Given the description of an element on the screen output the (x, y) to click on. 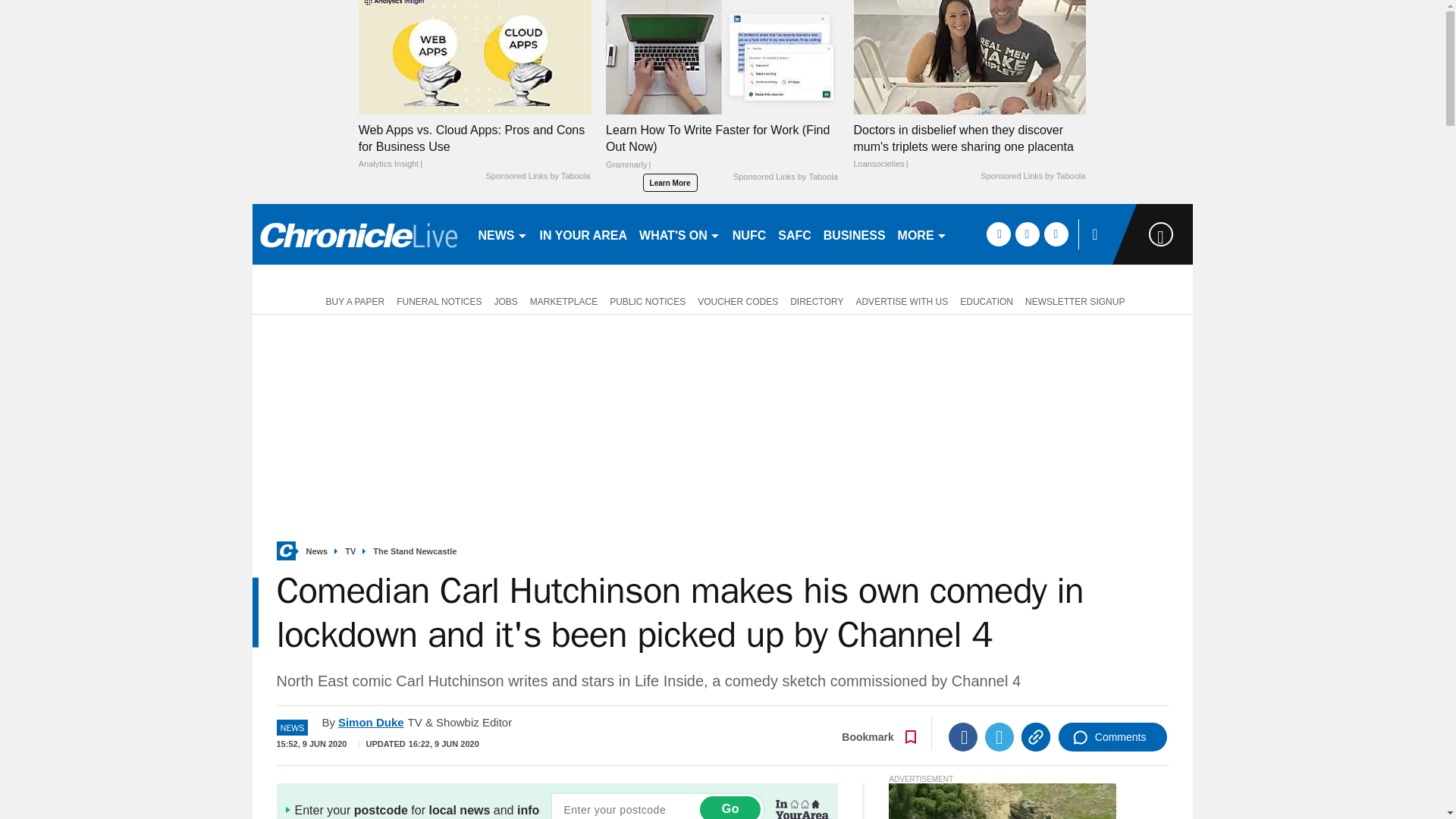
Go (730, 807)
Learn More (670, 182)
IN YOUR AREA (583, 233)
twitter (1026, 233)
Sponsored Links by Taboola (536, 176)
Facebook (962, 736)
Comments (1112, 736)
Sponsored Links by Taboola (1031, 176)
Twitter (999, 736)
Web Apps vs. Cloud Apps: Pros and Cons for Business Use (474, 146)
nechronicle (357, 233)
NEWS (501, 233)
Sponsored Links by Taboola (785, 176)
facebook (997, 233)
